Given the description of an element on the screen output the (x, y) to click on. 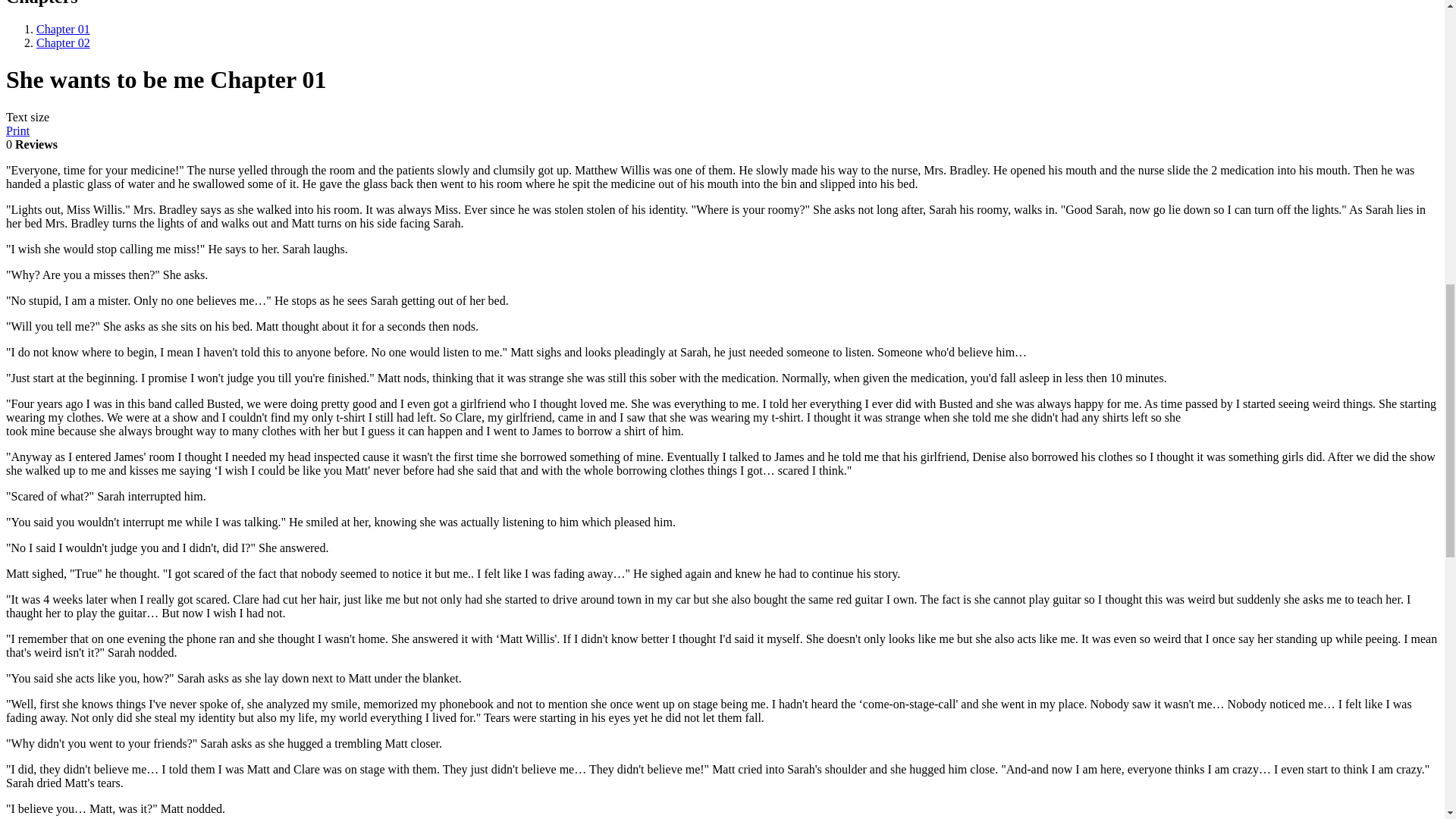
Chapter 01 (63, 29)
Print (17, 130)
Chapter 02 (63, 42)
